Given the description of an element on the screen output the (x, y) to click on. 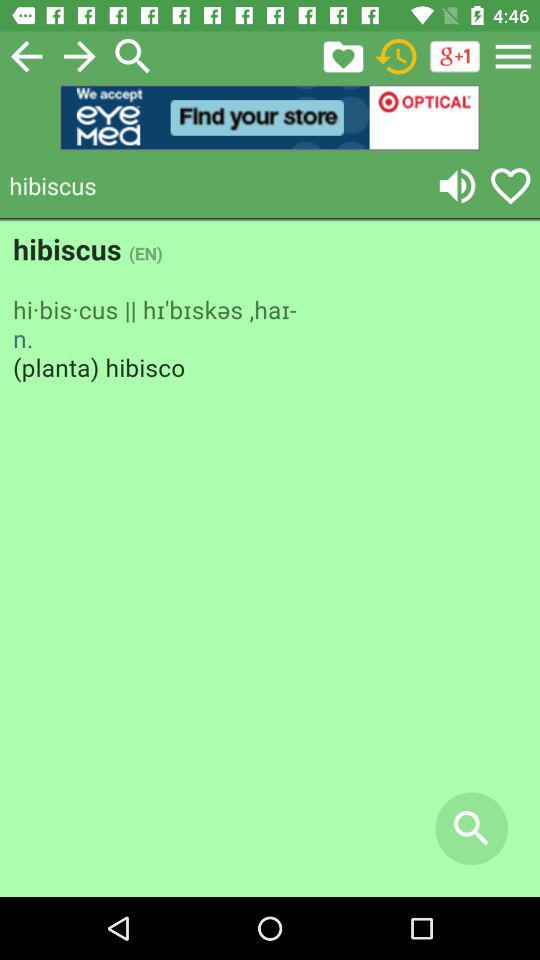
wi-fi connection main features (396, 56)
